Given the description of an element on the screen output the (x, y) to click on. 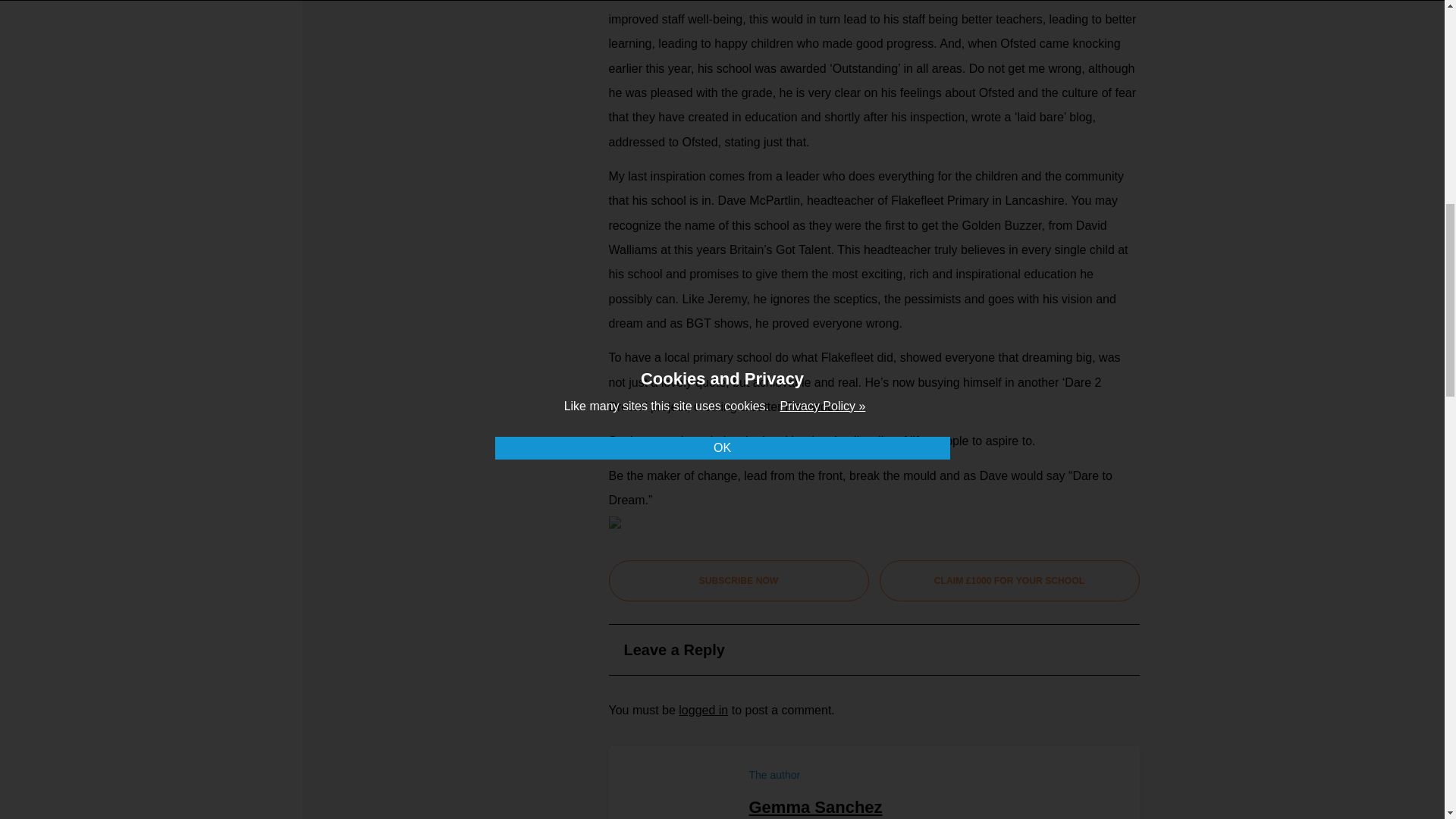
Posts by Gemma Sanchez (815, 806)
